Given the description of an element on the screen output the (x, y) to click on. 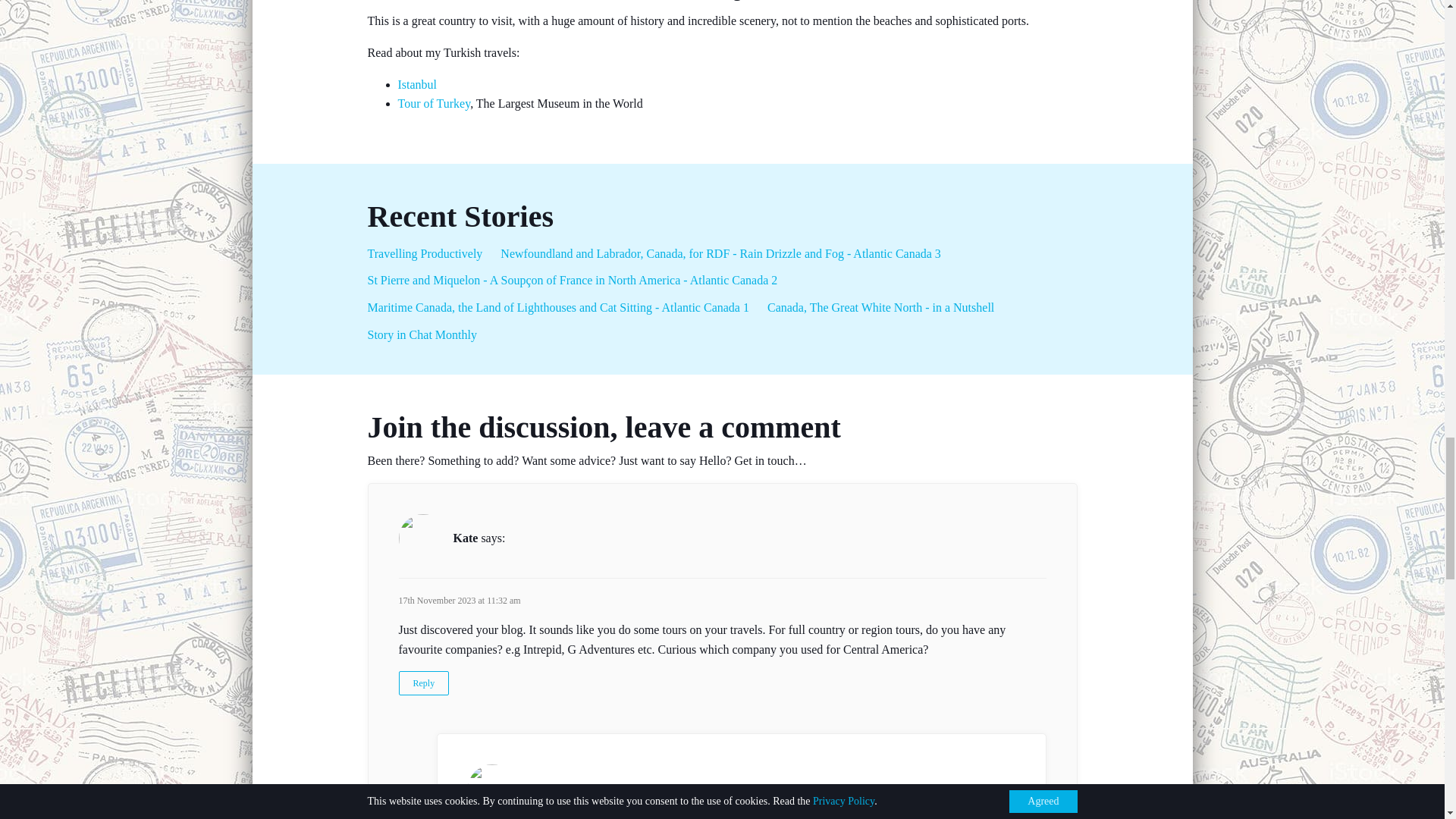
Travelling Productively (423, 253)
Istanbul (416, 83)
Tour of Turkey (433, 103)
Canada, The Great White North - in a Nutshell (880, 307)
Story in Chat Monthly (421, 334)
Reply (423, 682)
Sue (530, 788)
17th November 2023 at 11:32 am (459, 600)
